Given the description of an element on the screen output the (x, y) to click on. 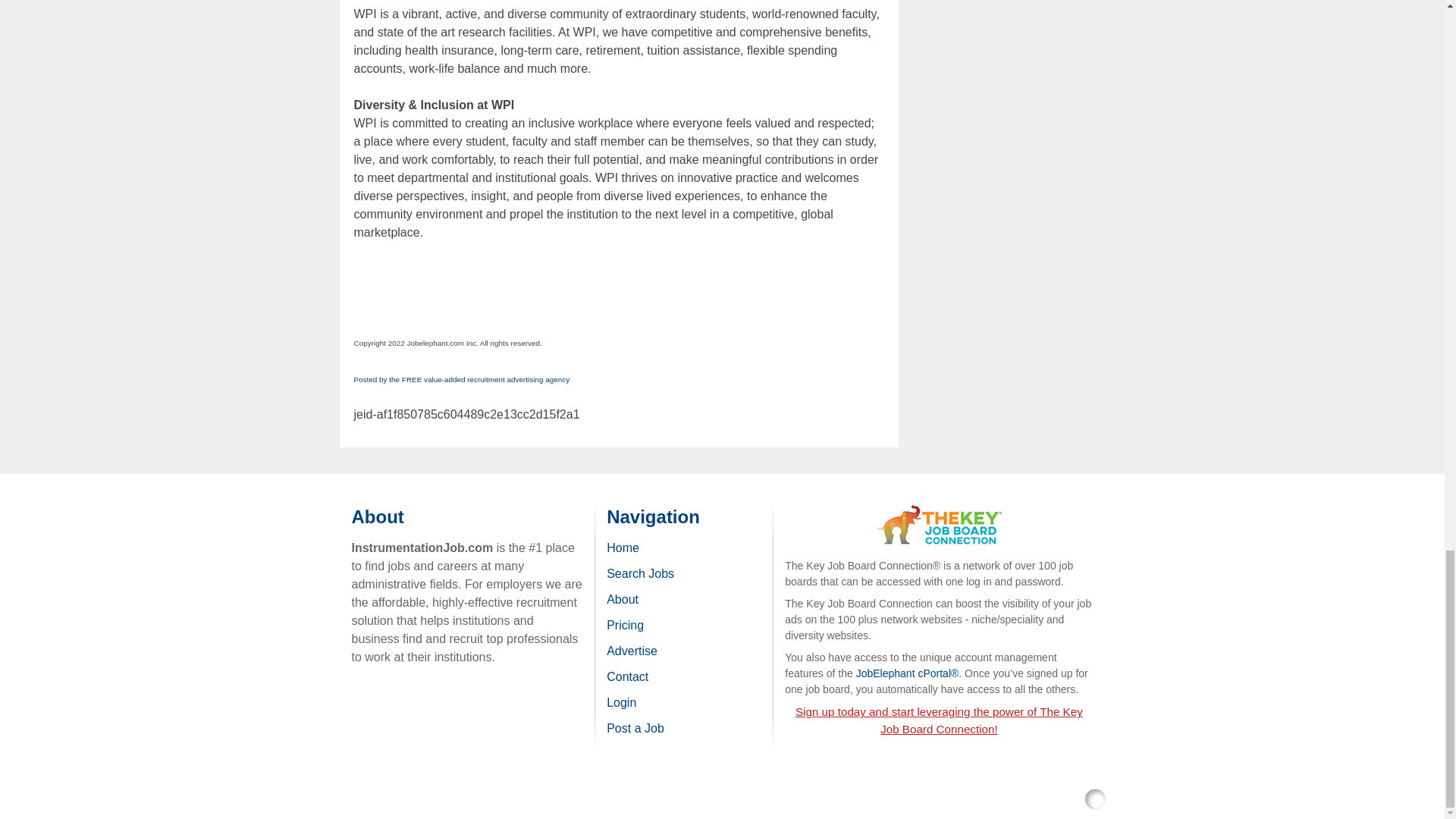
JobElephant THE KEY Job Board Connection (939, 511)
